Given the description of an element on the screen output the (x, y) to click on. 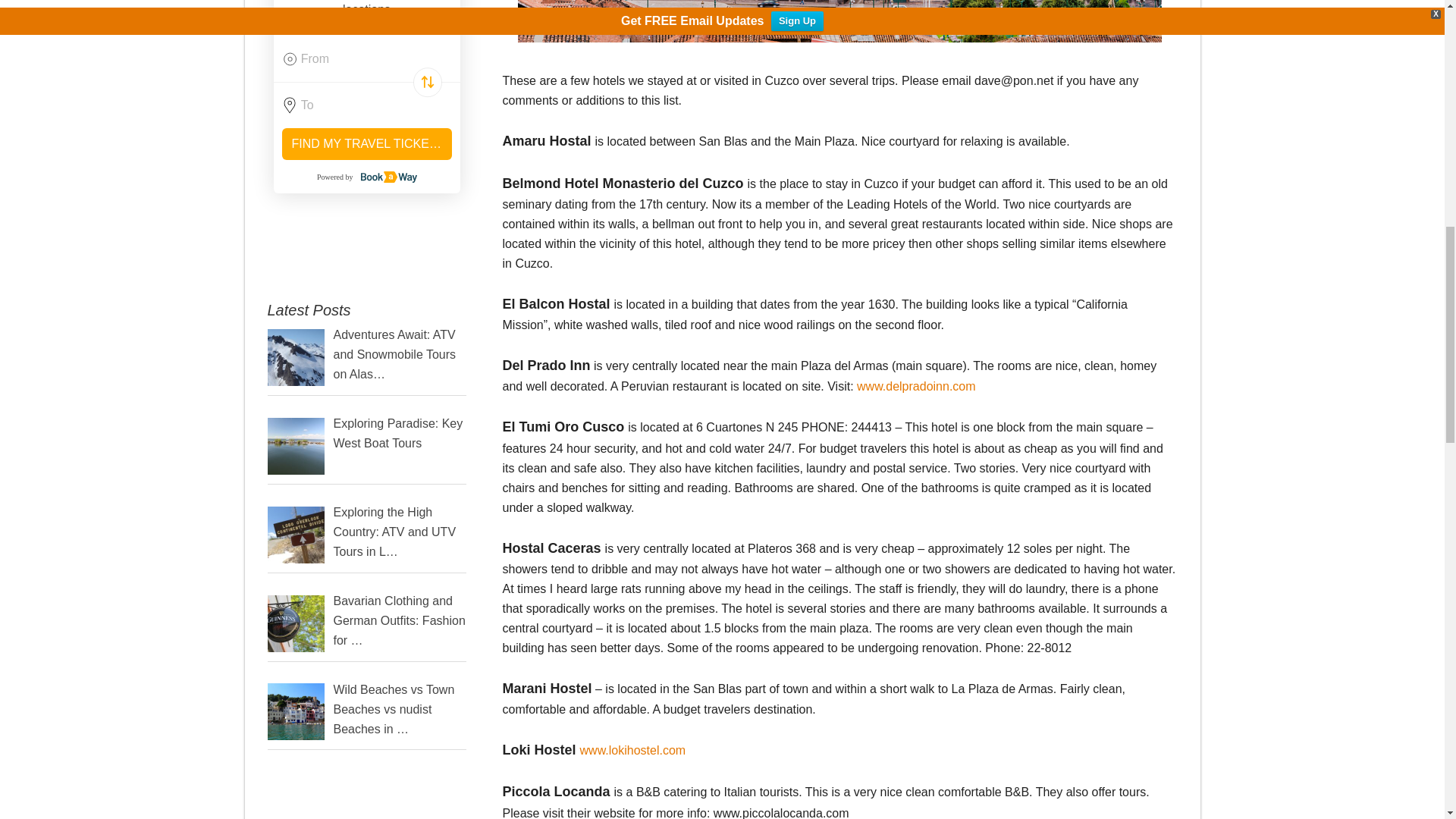
FIND MY TRAVEL TICKETS (366, 143)
www.delpradoinn.com (916, 386)
www.lokihostel.com (632, 749)
